Given the description of an element on the screen output the (x, y) to click on. 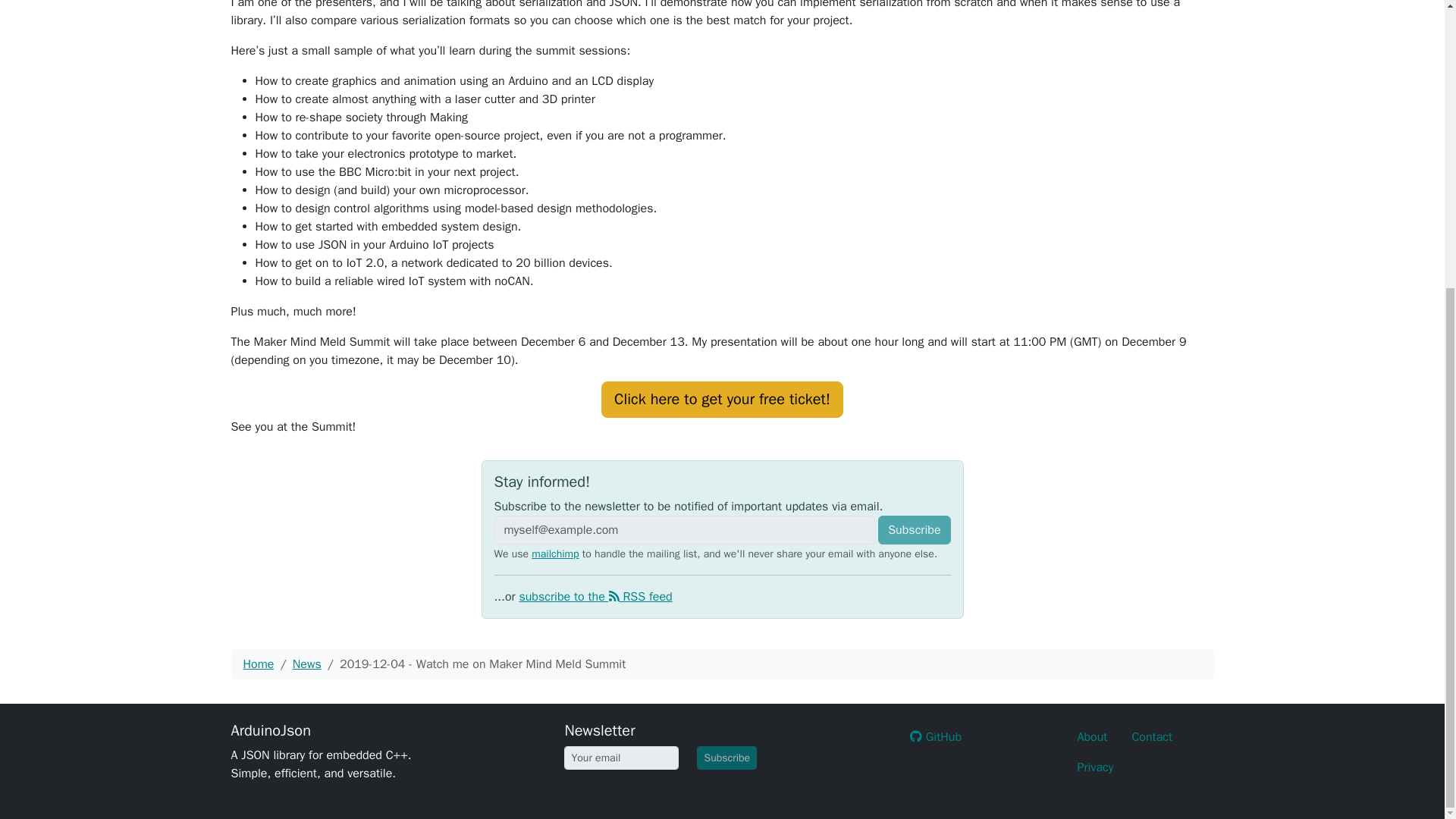
Subscribe (727, 757)
subscribe to the RSS feed (594, 596)
Privacy (1094, 767)
Subscribe (727, 757)
Home (258, 663)
Click here to get your free ticket! (722, 399)
About (1091, 736)
Subscribe (913, 529)
Subscribe (913, 529)
News (306, 663)
GitHub (936, 736)
mailchimp (554, 553)
Contact (1152, 736)
